Given the description of an element on the screen output the (x, y) to click on. 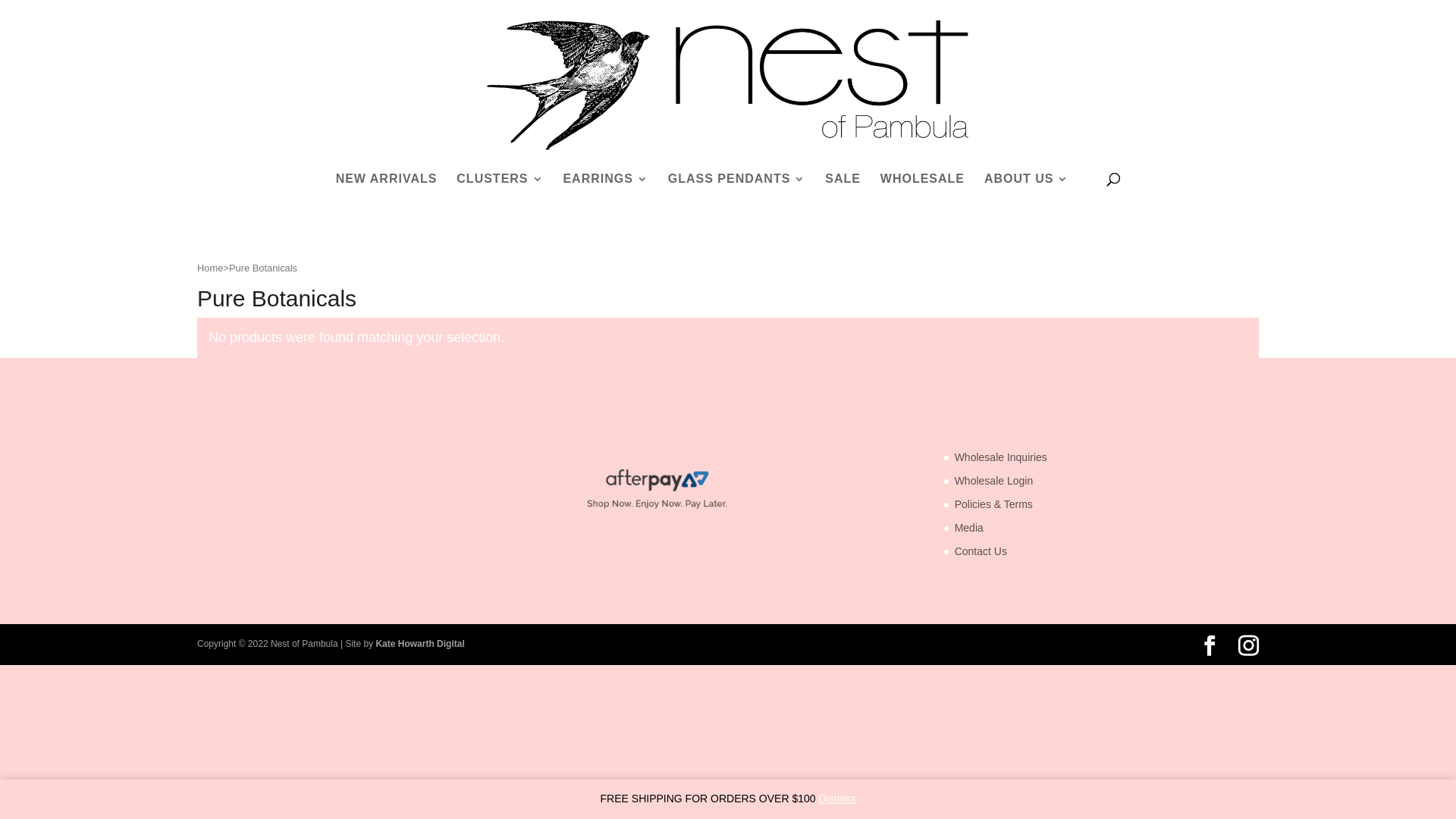
CLUSTERS Element type: text (499, 194)
Wholesale Login Element type: text (993, 480)
ABOUT US Element type: text (1026, 194)
Contact Us Element type: text (980, 551)
WHOLESALE Element type: text (922, 194)
Home Element type: text (209, 267)
Kate Howarth Digital Element type: text (419, 643)
Wholesale Inquiries Element type: text (1000, 457)
Policies & Terms Element type: text (993, 504)
Dismiss Element type: text (836, 798)
Media Element type: text (968, 527)
NEW ARRIVALS Element type: text (386, 194)
SALE Element type: text (842, 194)
GLASS PENDANTS Element type: text (737, 194)
EARRINGS Element type: text (604, 194)
